Given the description of an element on the screen output the (x, y) to click on. 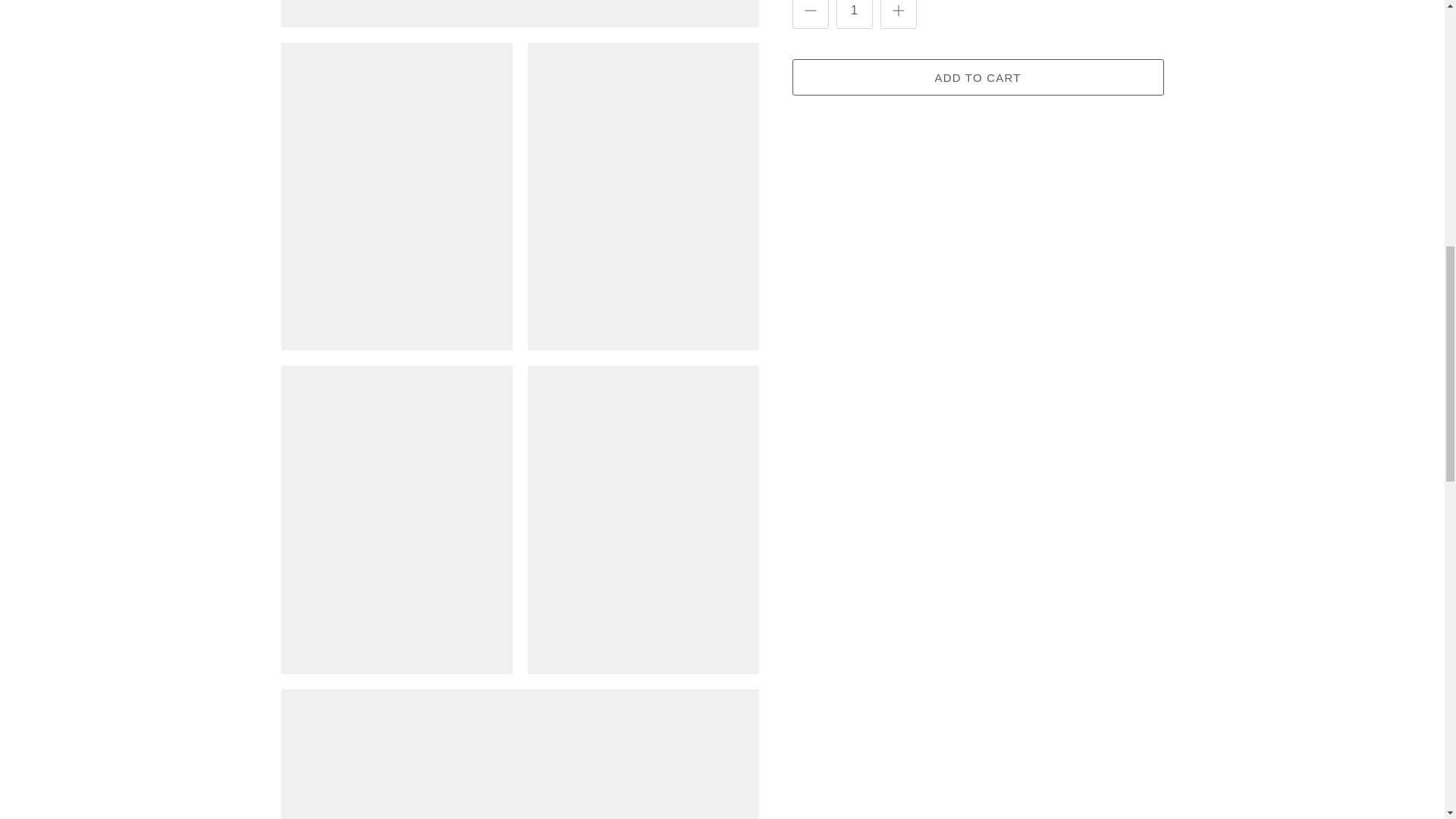
Minus (809, 10)
Plus (897, 10)
1 (853, 14)
